Given the description of an element on the screen output the (x, y) to click on. 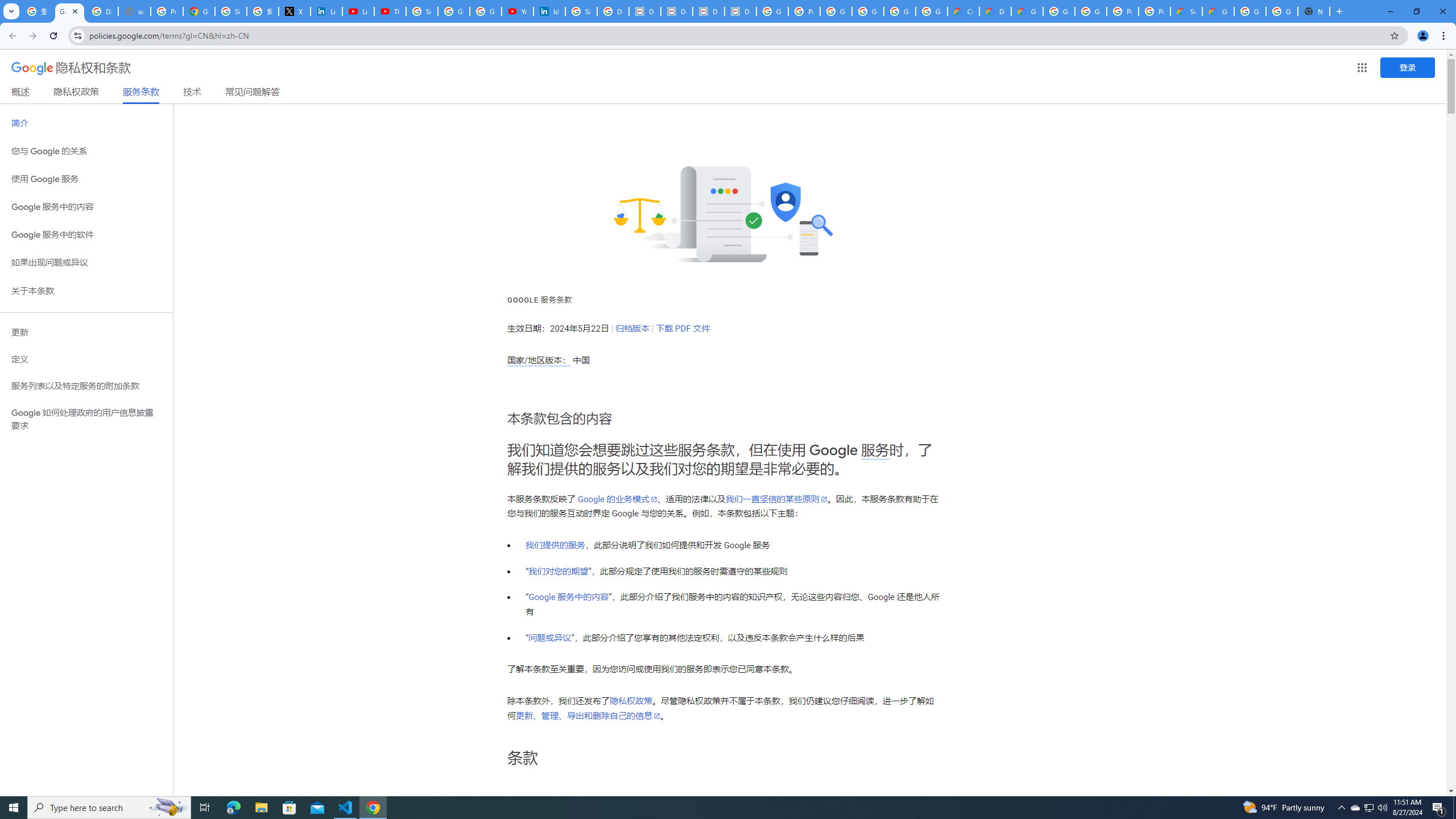
Gemini for Business and Developers | Google Cloud (1027, 11)
Data Privacy Framework (708, 11)
